Given the description of an element on the screen output the (x, y) to click on. 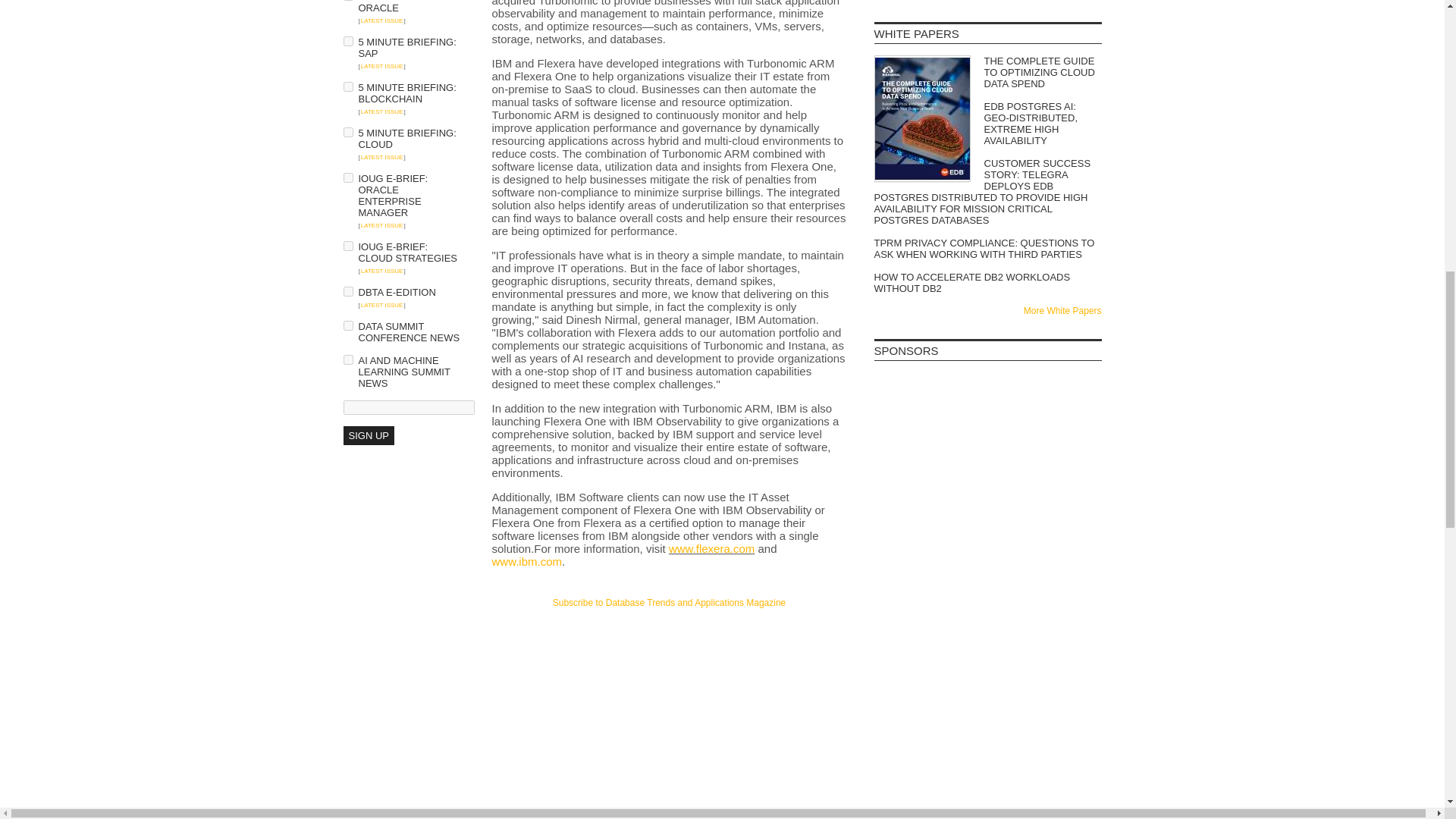
on (347, 40)
Sign Up (367, 435)
on (347, 86)
on (347, 291)
on (347, 132)
3rd party ad content (668, 637)
3rd party ad content (986, 683)
EDB Postgres Ai: Geo-distributed, Extreme High Availability (986, 123)
